Given the description of an element on the screen output the (x, y) to click on. 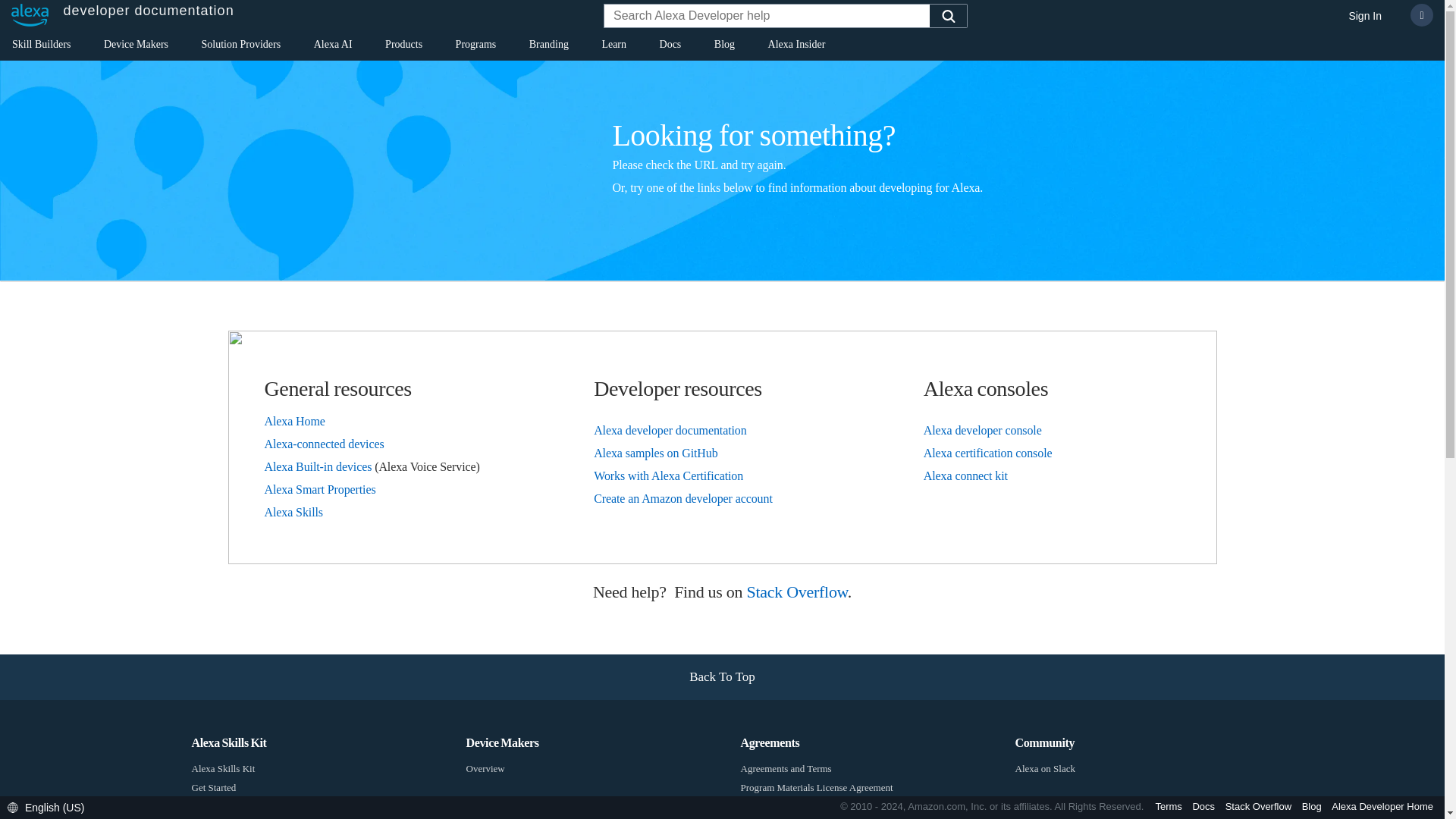
Alexa AI (333, 47)
Insert a query. Press enter to send (767, 17)
Sign In (1364, 17)
Device Makers (135, 47)
developer documentation (118, 15)
Solution Providers (241, 47)
Products (403, 47)
Skill Builders (40, 47)
